Given the description of an element on the screen output the (x, y) to click on. 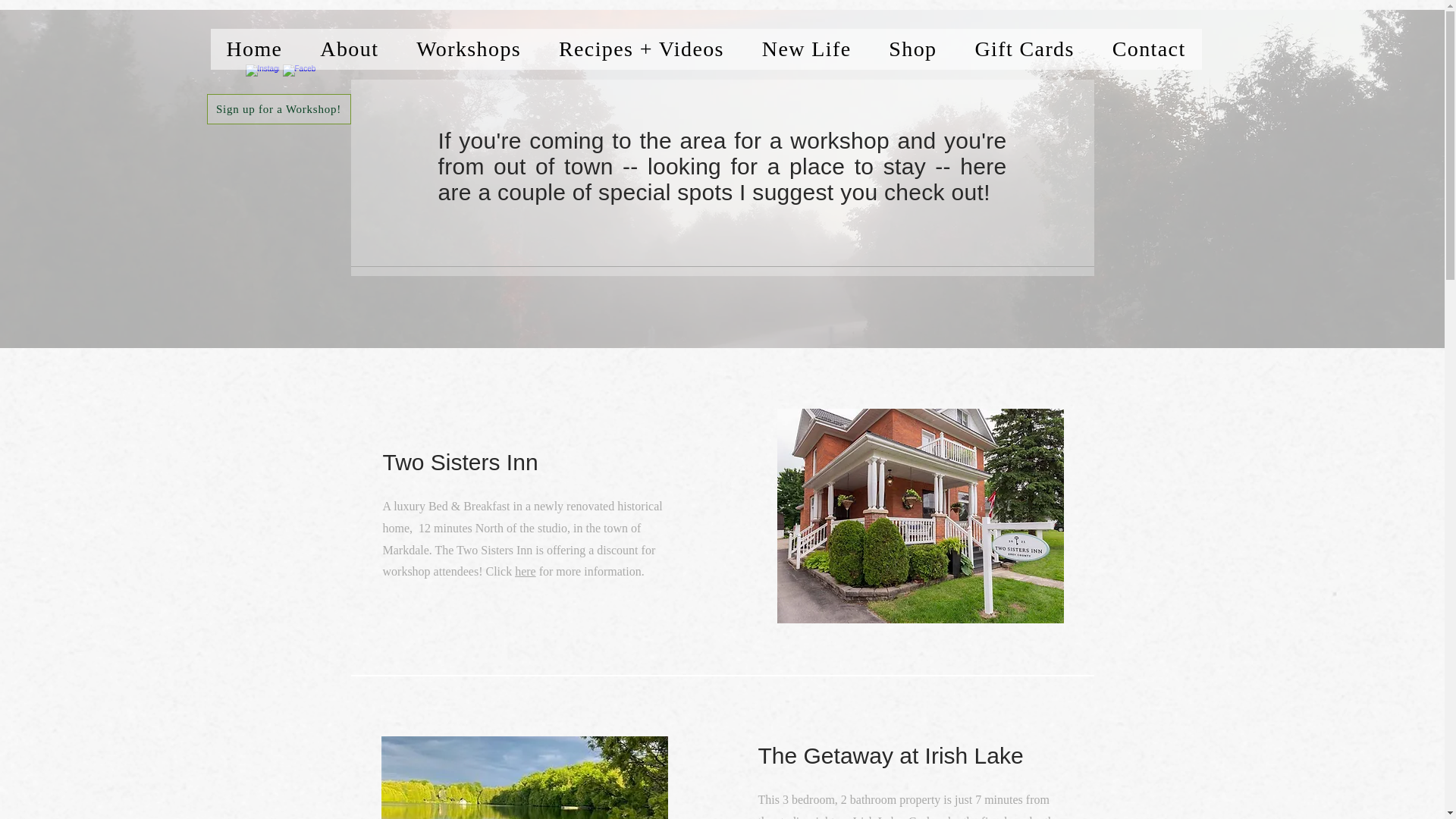
About (349, 48)
Contact (1149, 48)
Shop (912, 48)
here (525, 571)
Workshops (468, 48)
Gift Cards (1023, 48)
Home (254, 48)
Sign up for a Workshop! (278, 109)
New Life (806, 48)
